Given the description of an element on the screen output the (x, y) to click on. 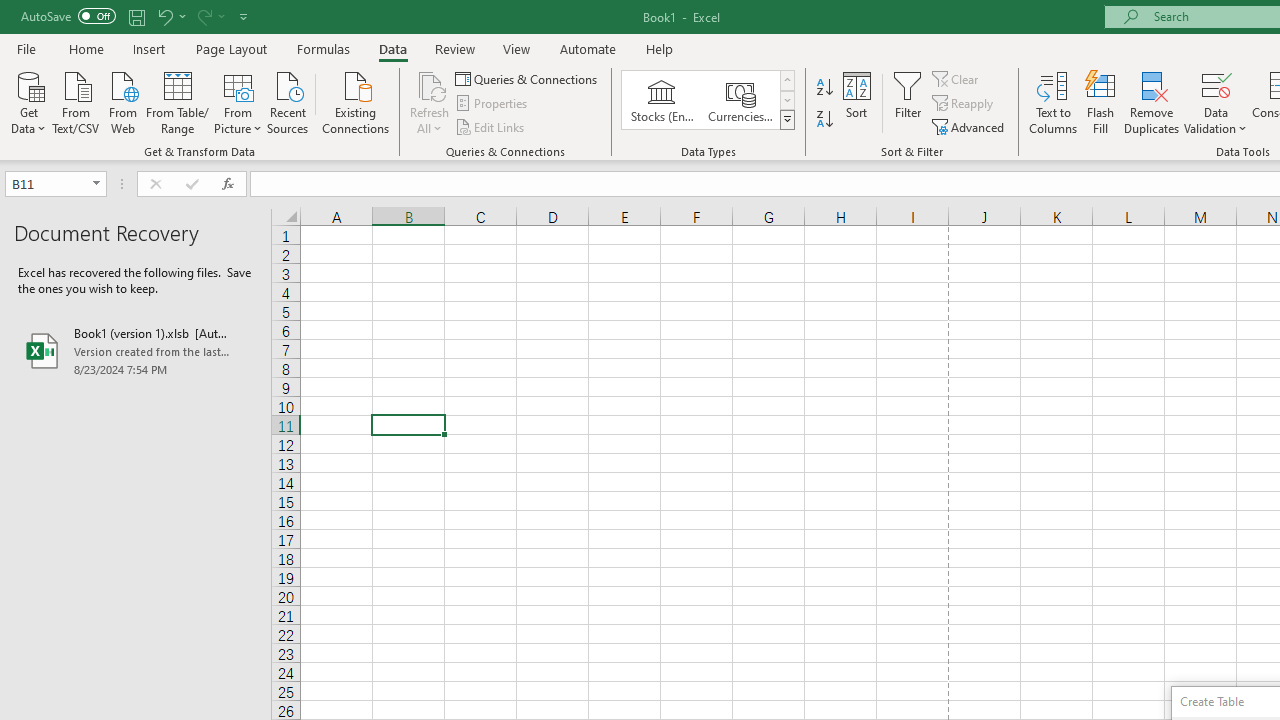
Queries & Connections (527, 78)
From Picture (238, 101)
Recent Sources (287, 101)
Edit Links (491, 126)
Sort Z to A (824, 119)
